Given the description of an element on the screen output the (x, y) to click on. 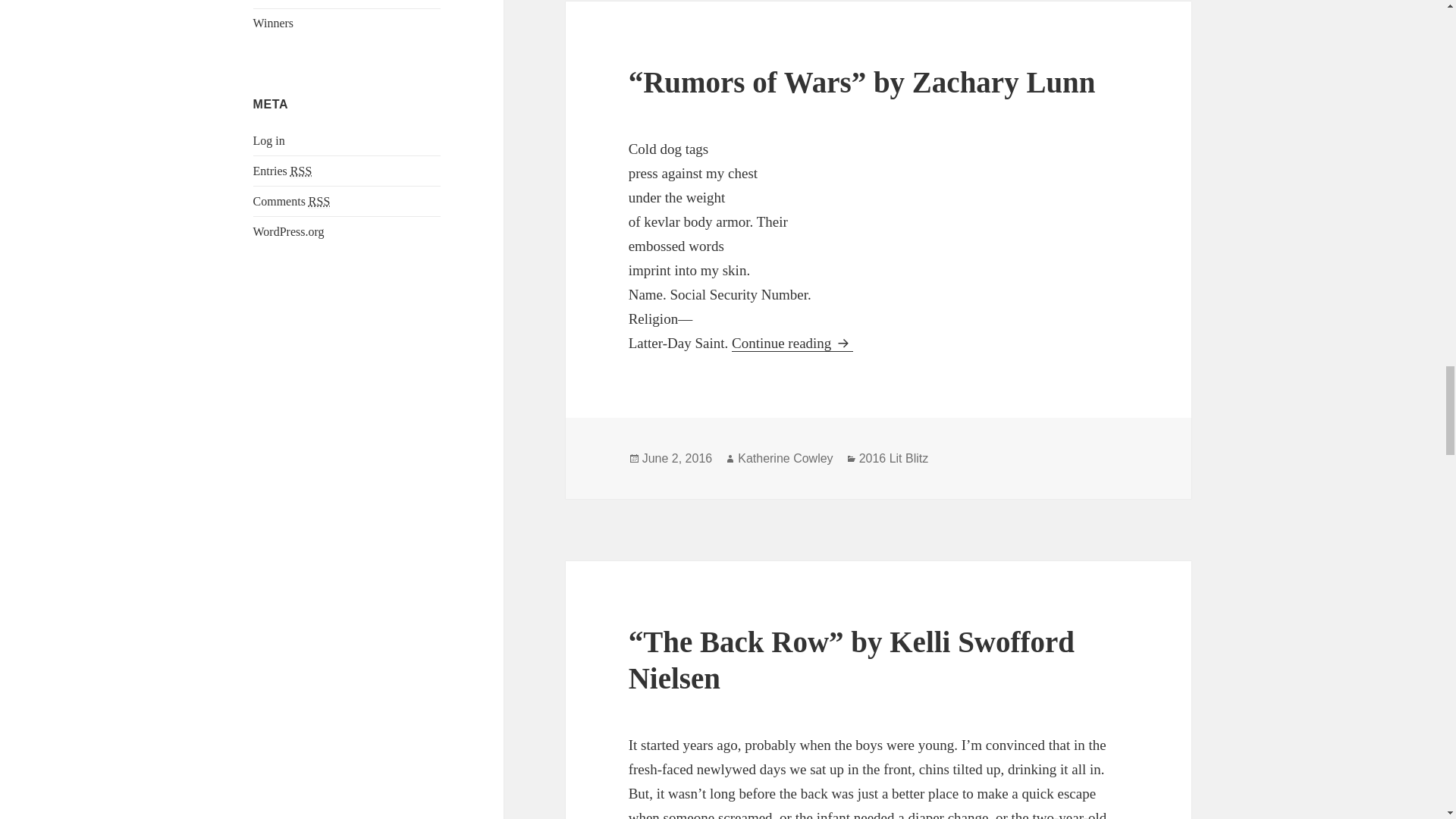
Really Simple Syndication (300, 171)
Really Simple Syndication (319, 201)
